Given the description of an element on the screen output the (x, y) to click on. 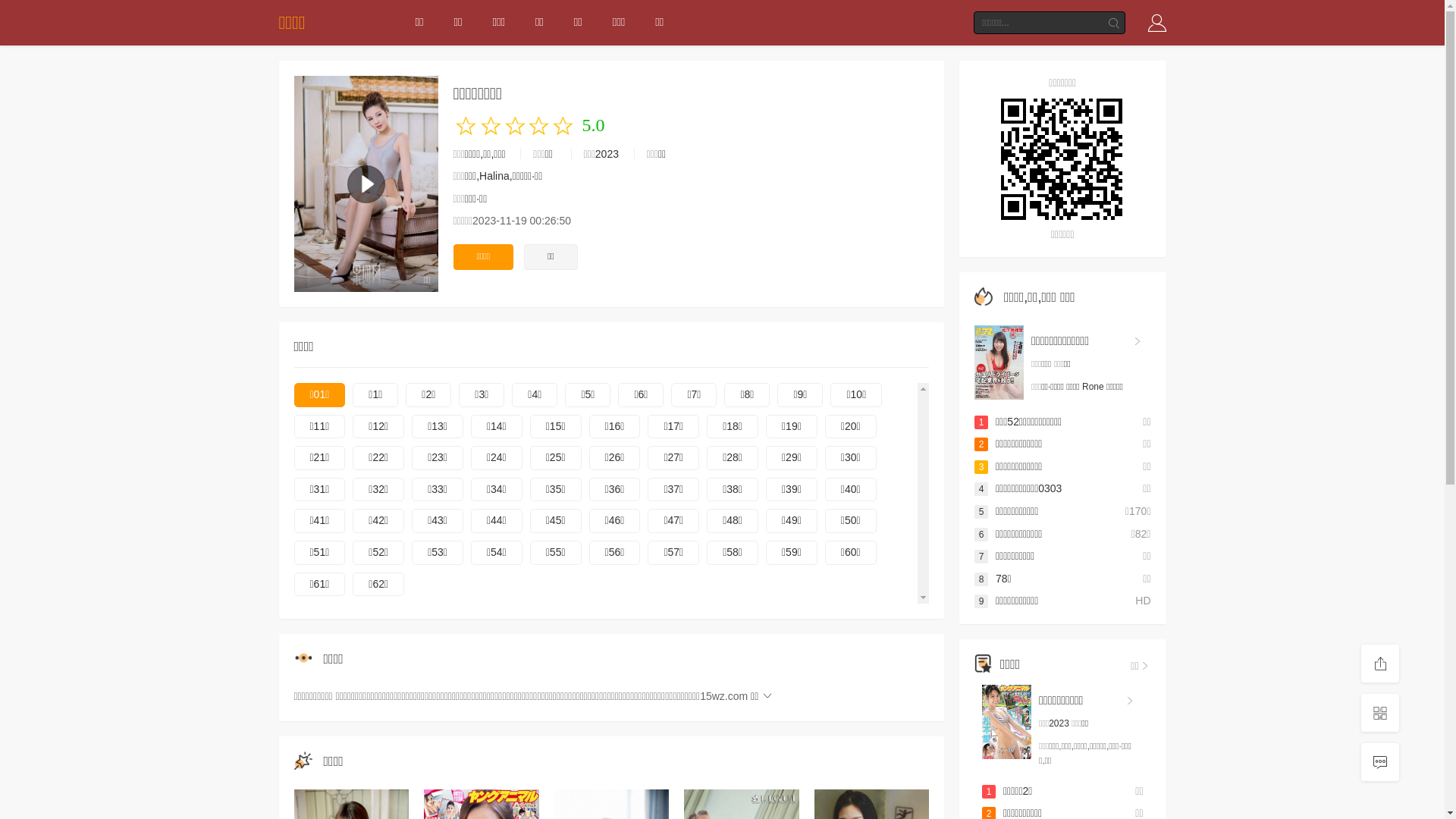
2023 Element type: text (1058, 723)
2023 Element type: text (606, 153)
Rone Element type: text (1093, 386)
http://15wz.com/app/soft/ Element type: hover (1062, 158)
